Given the description of an element on the screen output the (x, y) to click on. 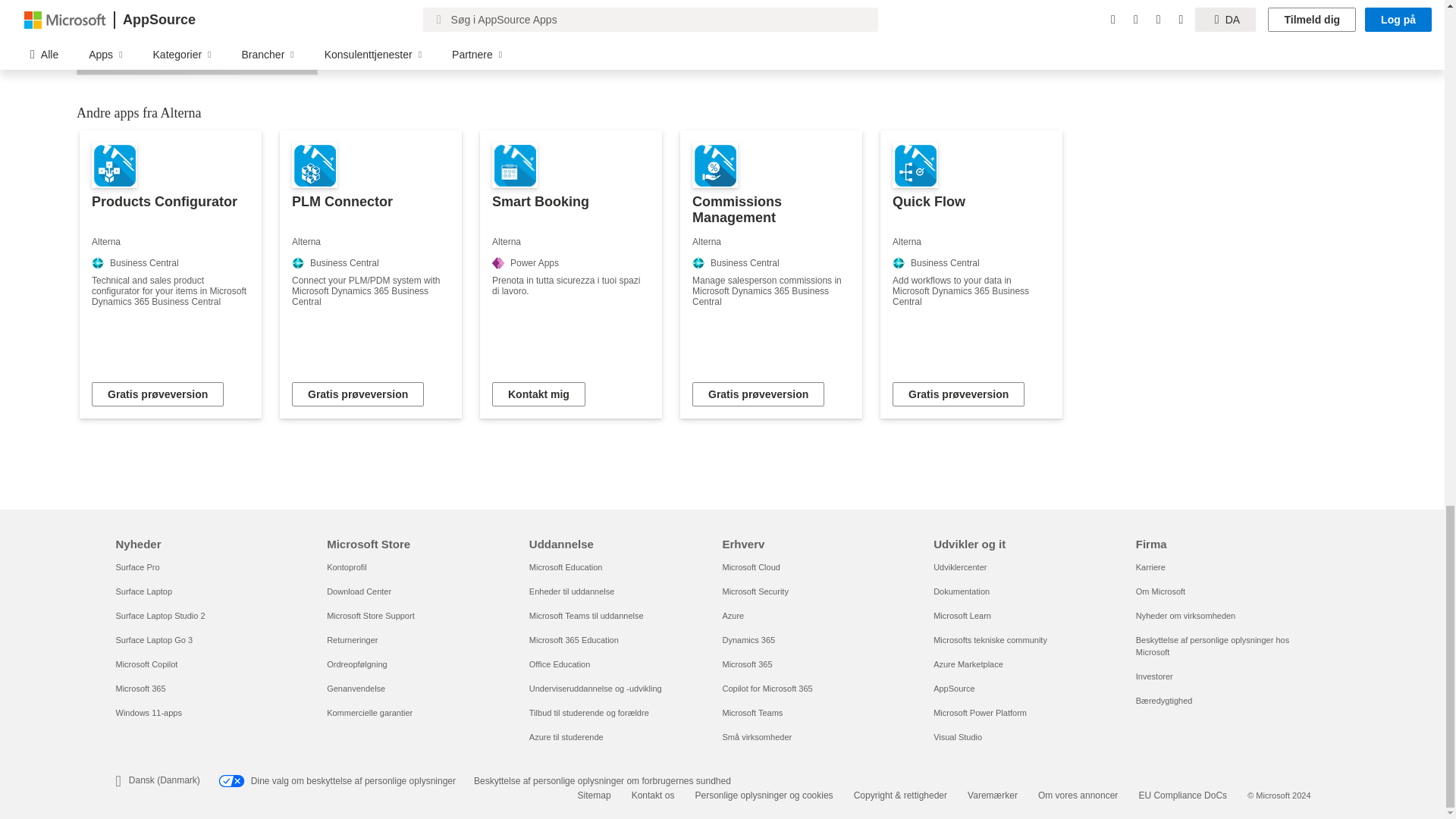
Surface Laptop Studio 2 (160, 614)
Surface Pro (136, 566)
Surface Laptop (143, 591)
Kontakt mig (538, 394)
